Given the description of an element on the screen output the (x, y) to click on. 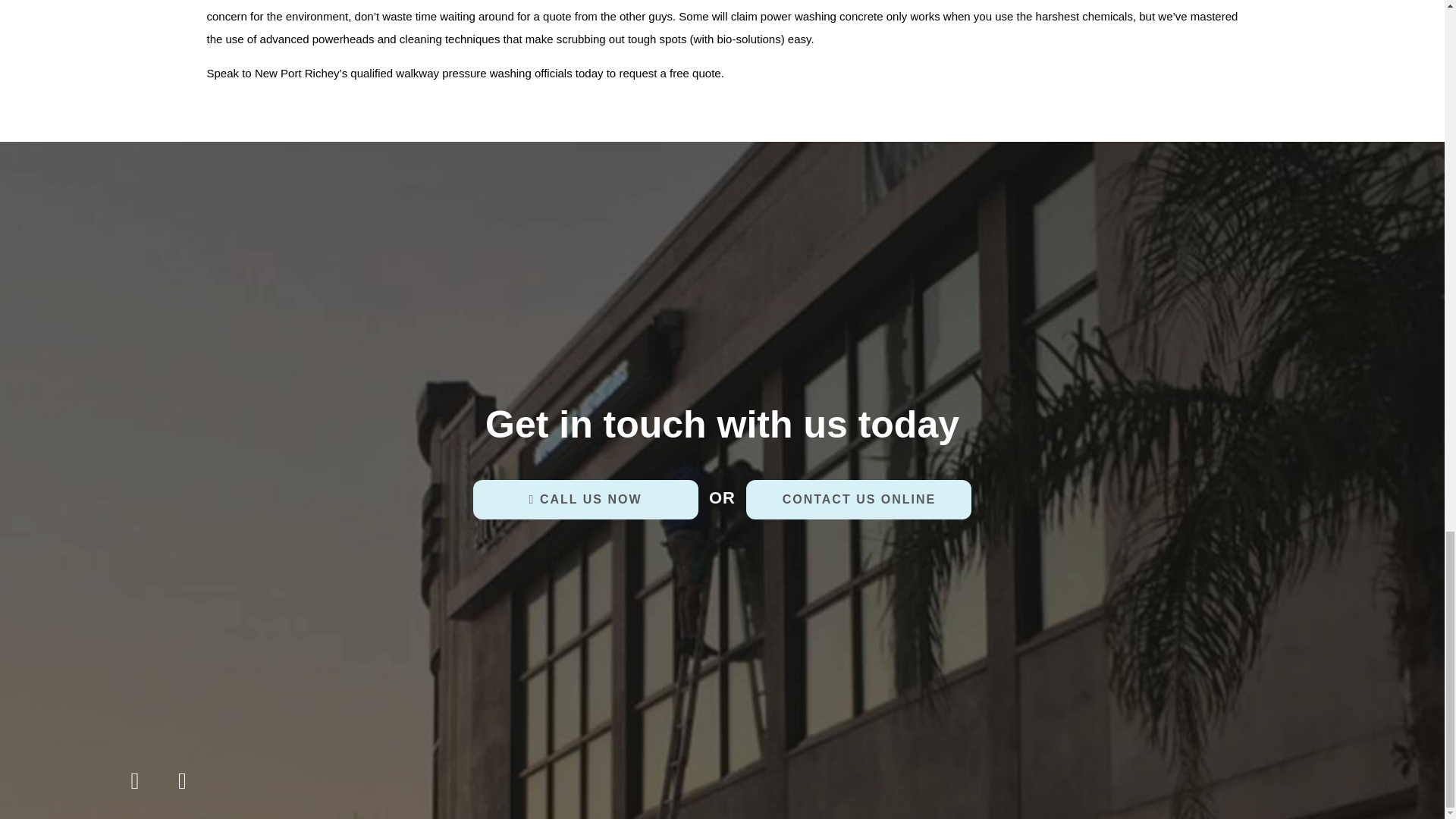
Krystal Klear Services Facebook Page (135, 784)
Krystal Klear Services's Google Maps (182, 784)
CONTACT US ONLINE (858, 499)
CALL US NOW (585, 499)
Contact us online (858, 499)
